Given the description of an element on the screen output the (x, y) to click on. 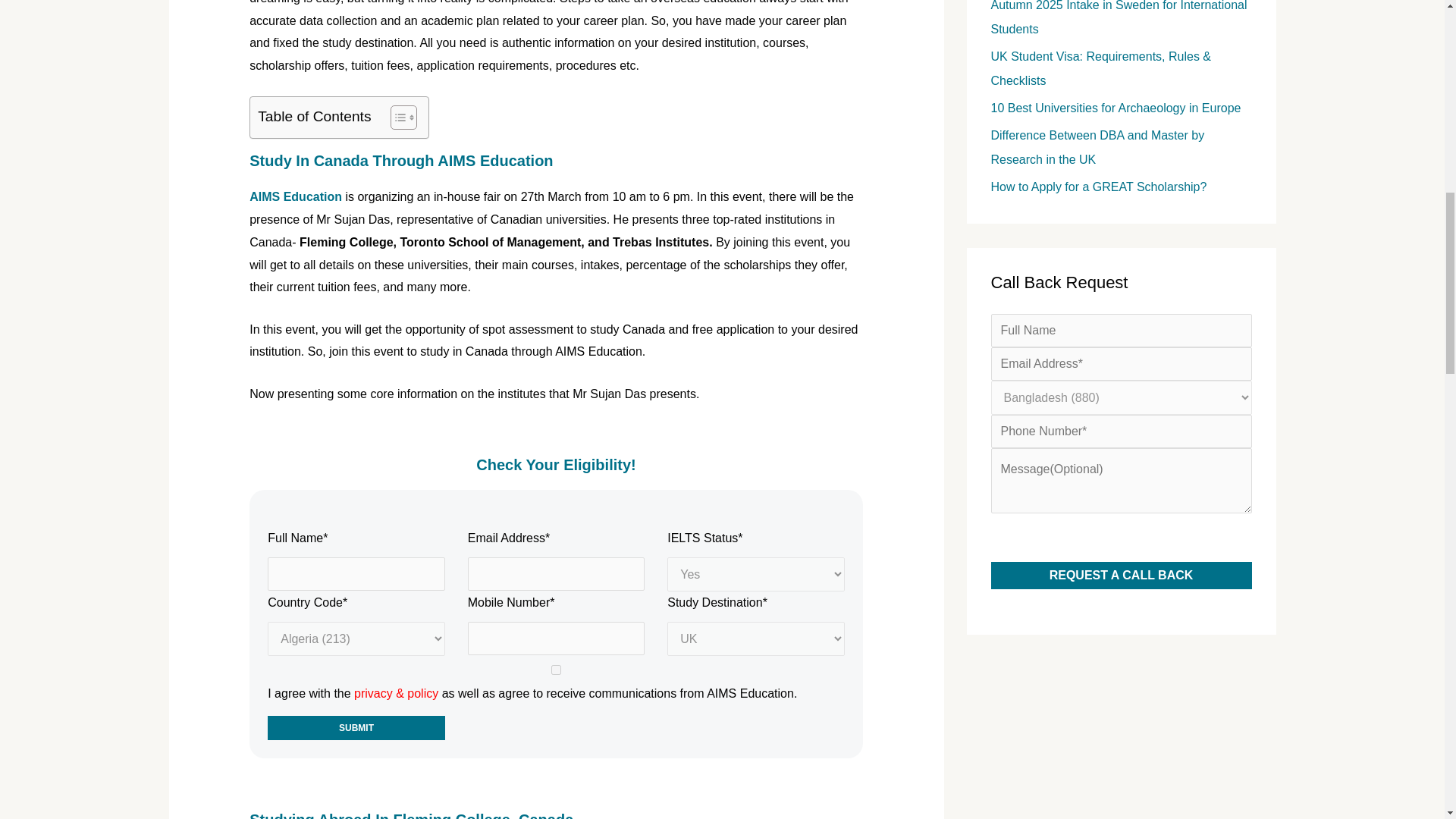
1 (555, 669)
Request A Call Back (1120, 574)
Submit (356, 727)
